Given the description of an element on the screen output the (x, y) to click on. 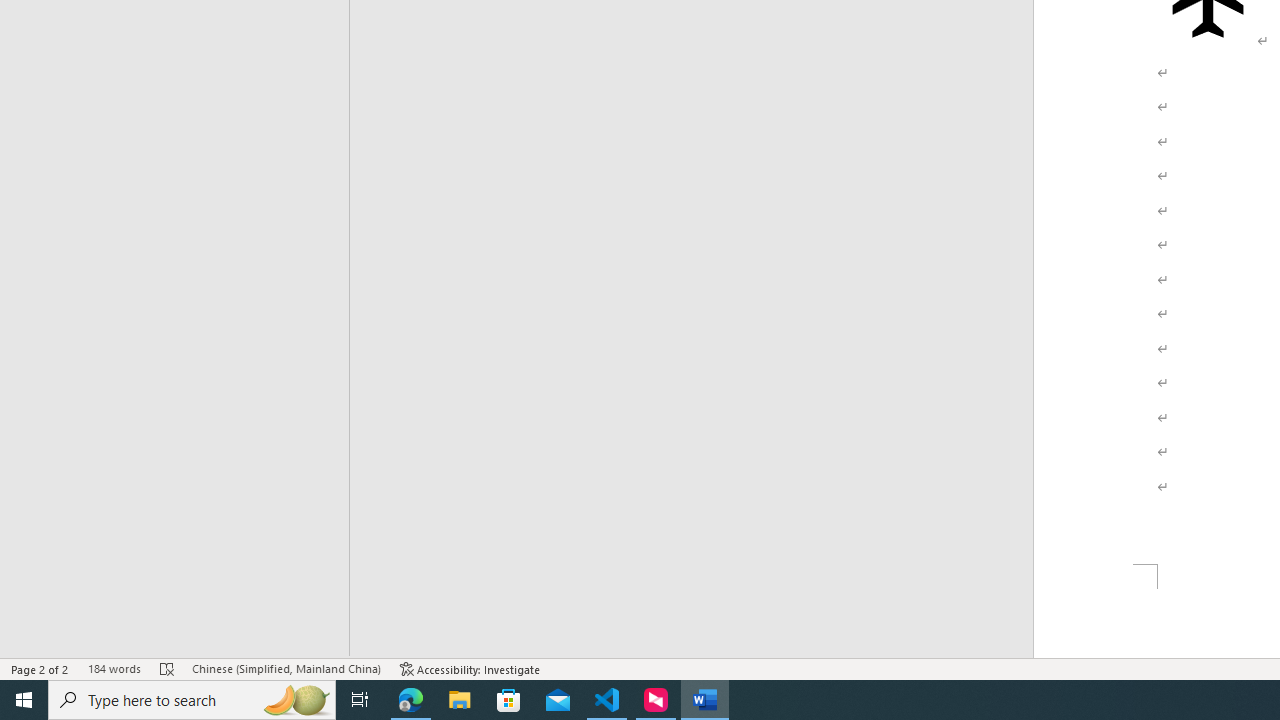
Page Number Page 2 of 2 (39, 668)
Word - 1 running window (704, 699)
File Explorer (460, 699)
Microsoft Edge - 1 running window (411, 699)
